Given the description of an element on the screen output the (x, y) to click on. 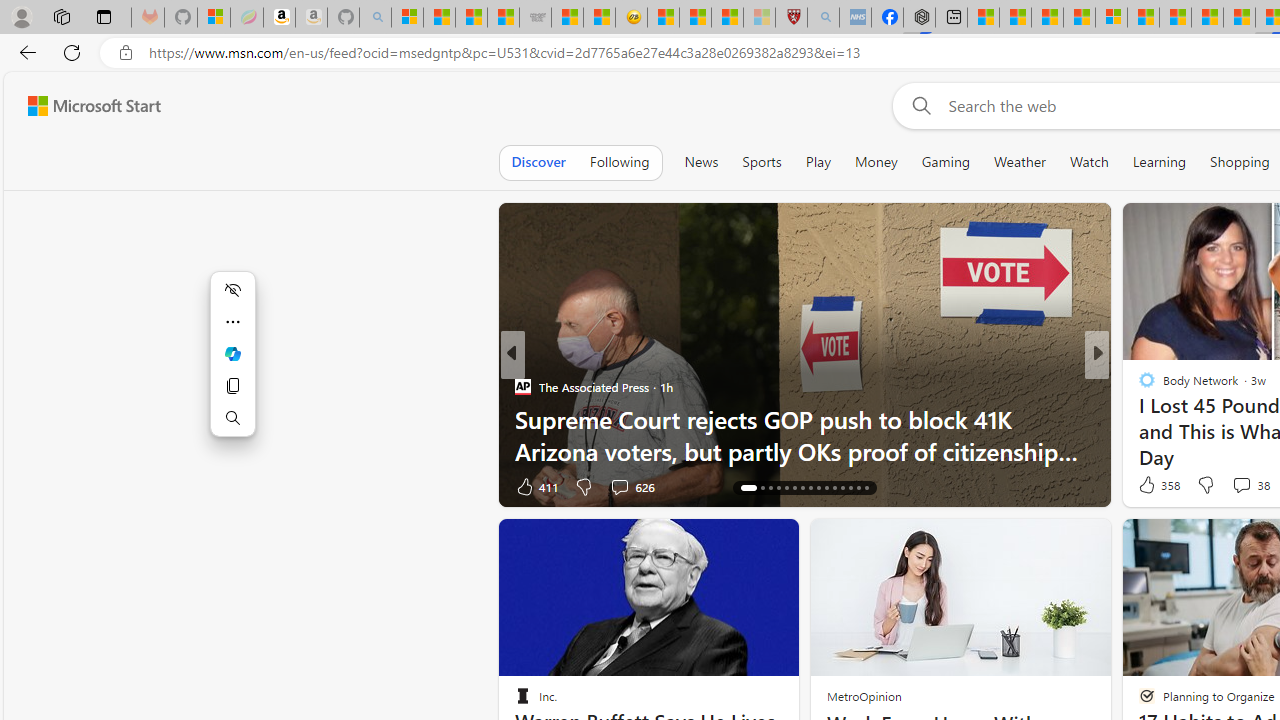
452 Like (1151, 486)
38 Like (1149, 486)
View comments 167 Comment (1234, 485)
View comments 626 Comment (619, 485)
View comments 5 Comment (1229, 485)
View comments 23 Comment (1244, 486)
Parade (1138, 386)
